Given the description of an element on the screen output the (x, y) to click on. 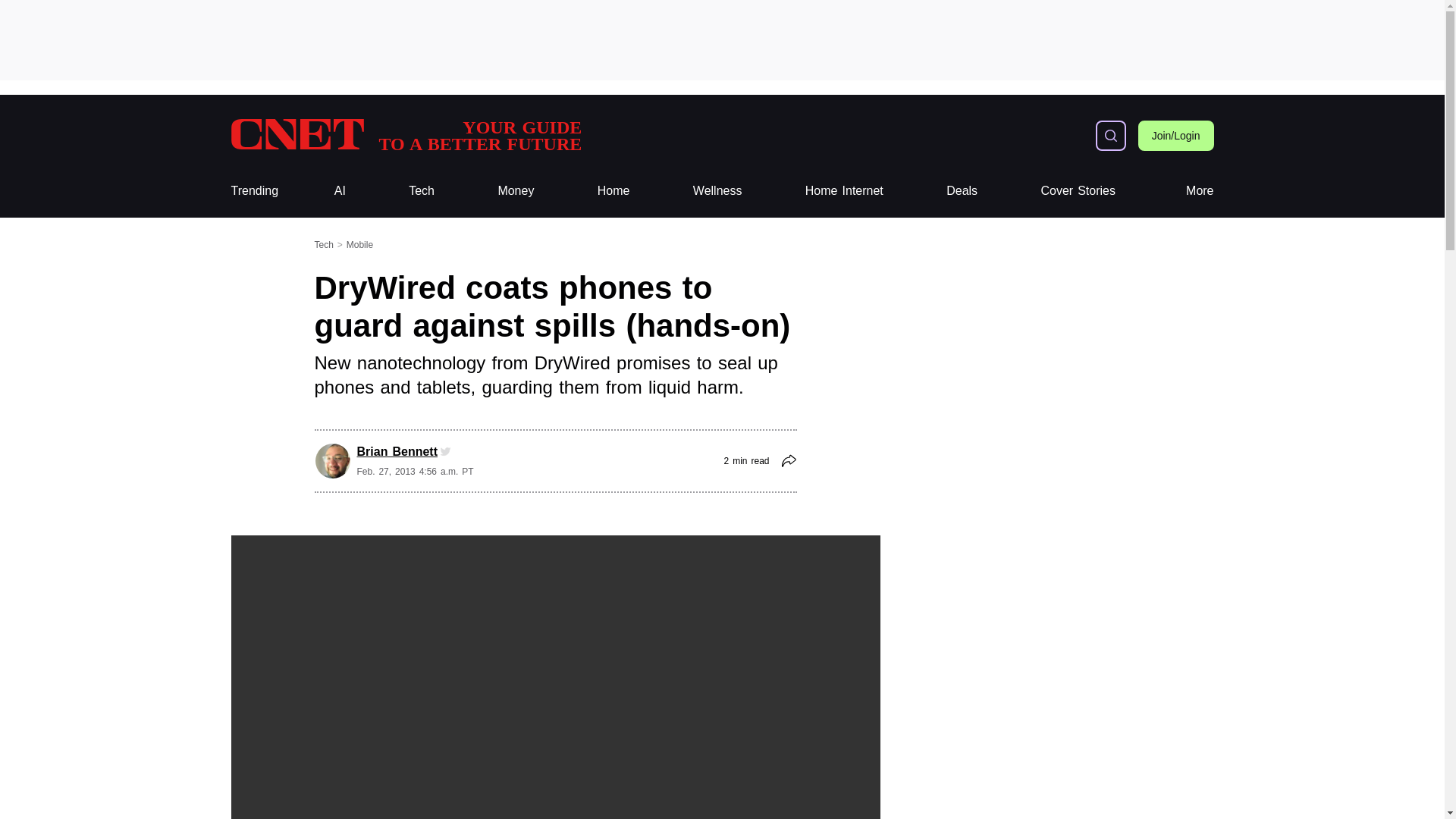
Cover Stories (1078, 190)
Home (613, 190)
Tech (421, 190)
Money (515, 190)
Money (515, 190)
Home Internet (844, 190)
Home (613, 190)
Home Internet (405, 135)
Tech (844, 190)
Trending (421, 190)
Trending (254, 190)
Deals (254, 190)
3rd party ad content (961, 190)
More (721, 39)
